Given the description of an element on the screen output the (x, y) to click on. 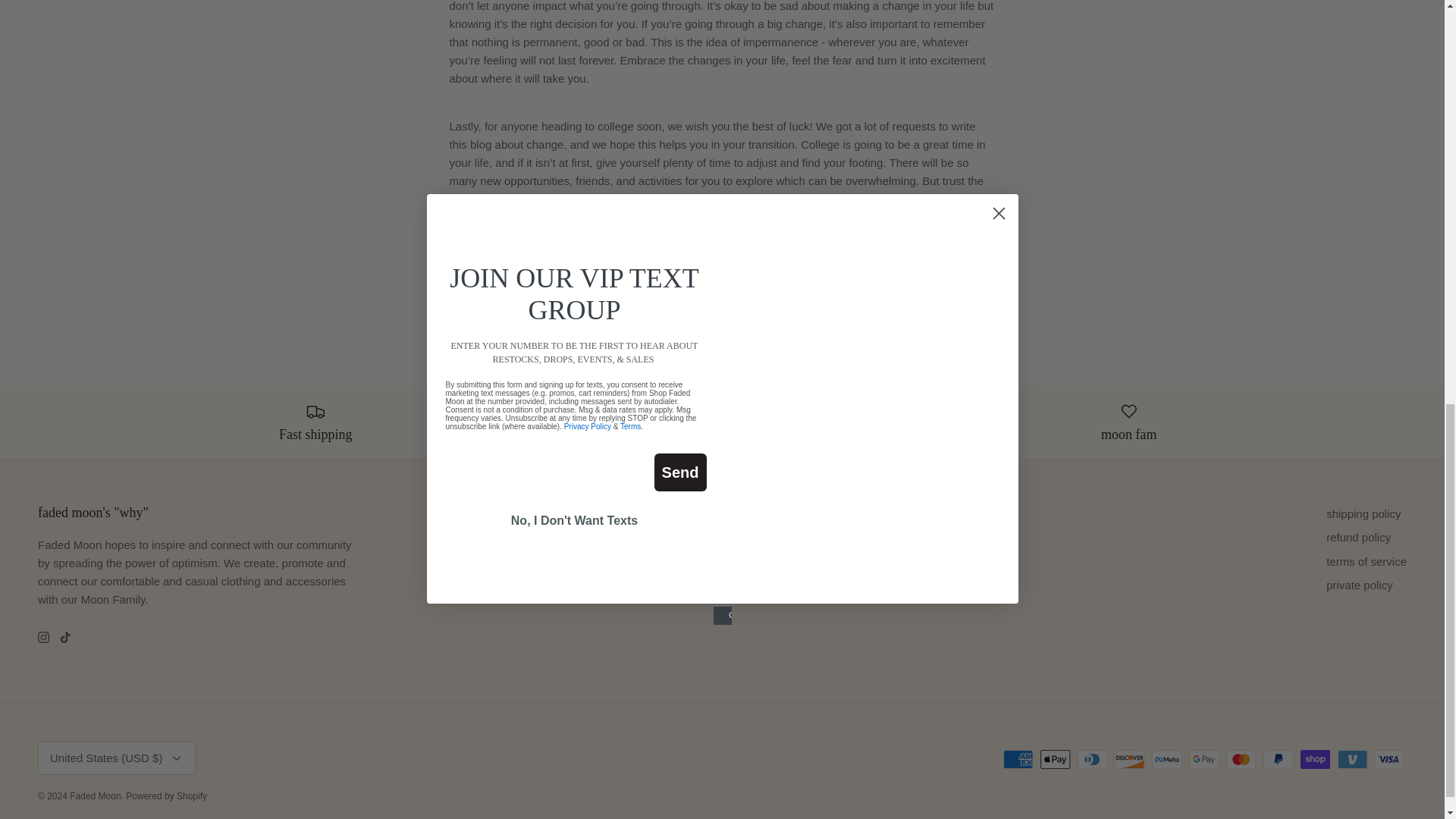
Diners Club (1092, 759)
Apple Pay (1055, 759)
Discover (1129, 759)
PayPal (1277, 759)
Mastercard (1240, 759)
American Express (1018, 759)
Google Pay (1203, 759)
Instagram (43, 636)
Meta Pay (1166, 759)
